Given the description of an element on the screen output the (x, y) to click on. 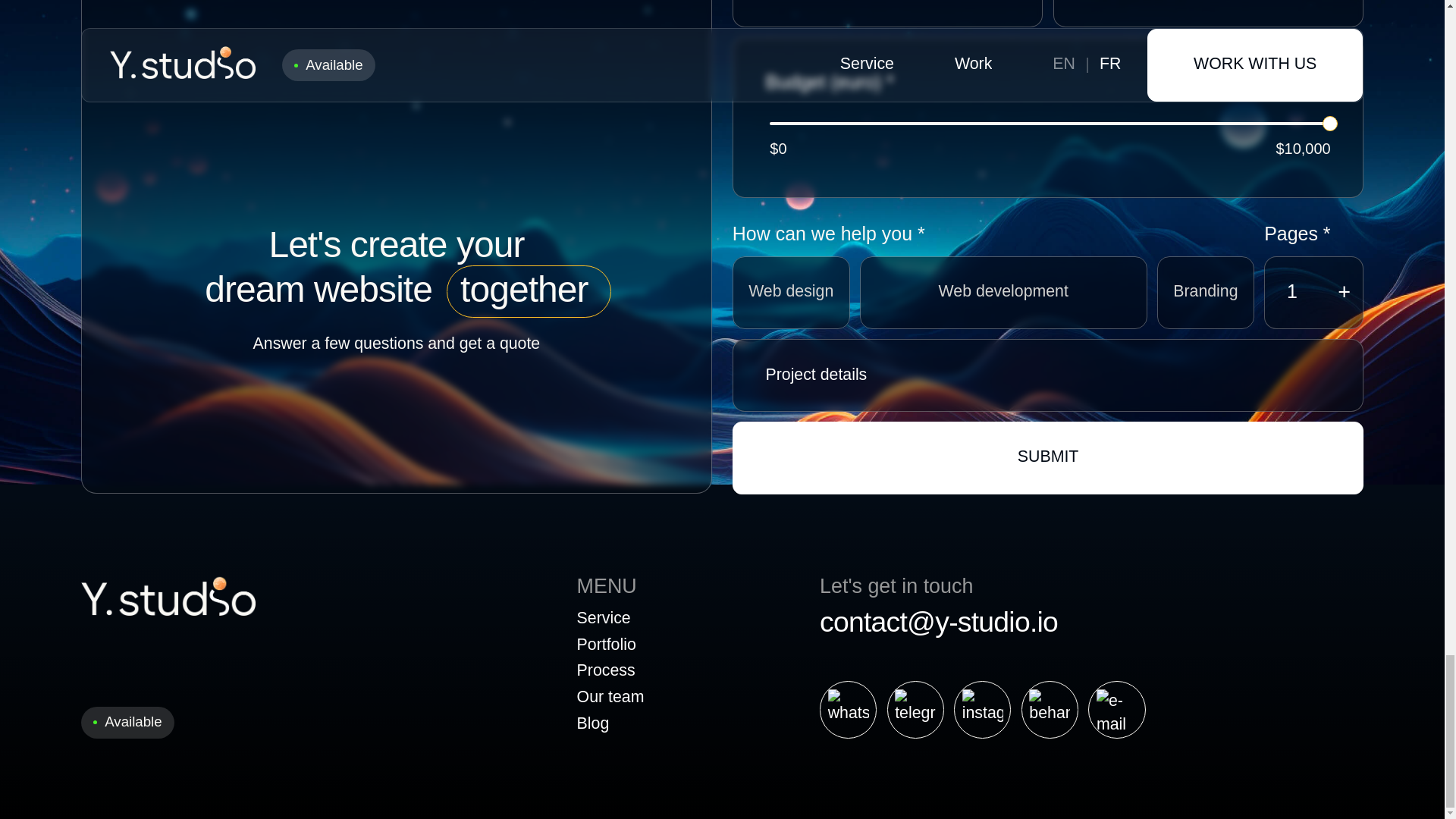
Service (610, 619)
Blog (610, 724)
Our team (610, 698)
Process (610, 672)
Portfolio (610, 646)
SUBMIT (1048, 457)
